Given the description of an element on the screen output the (x, y) to click on. 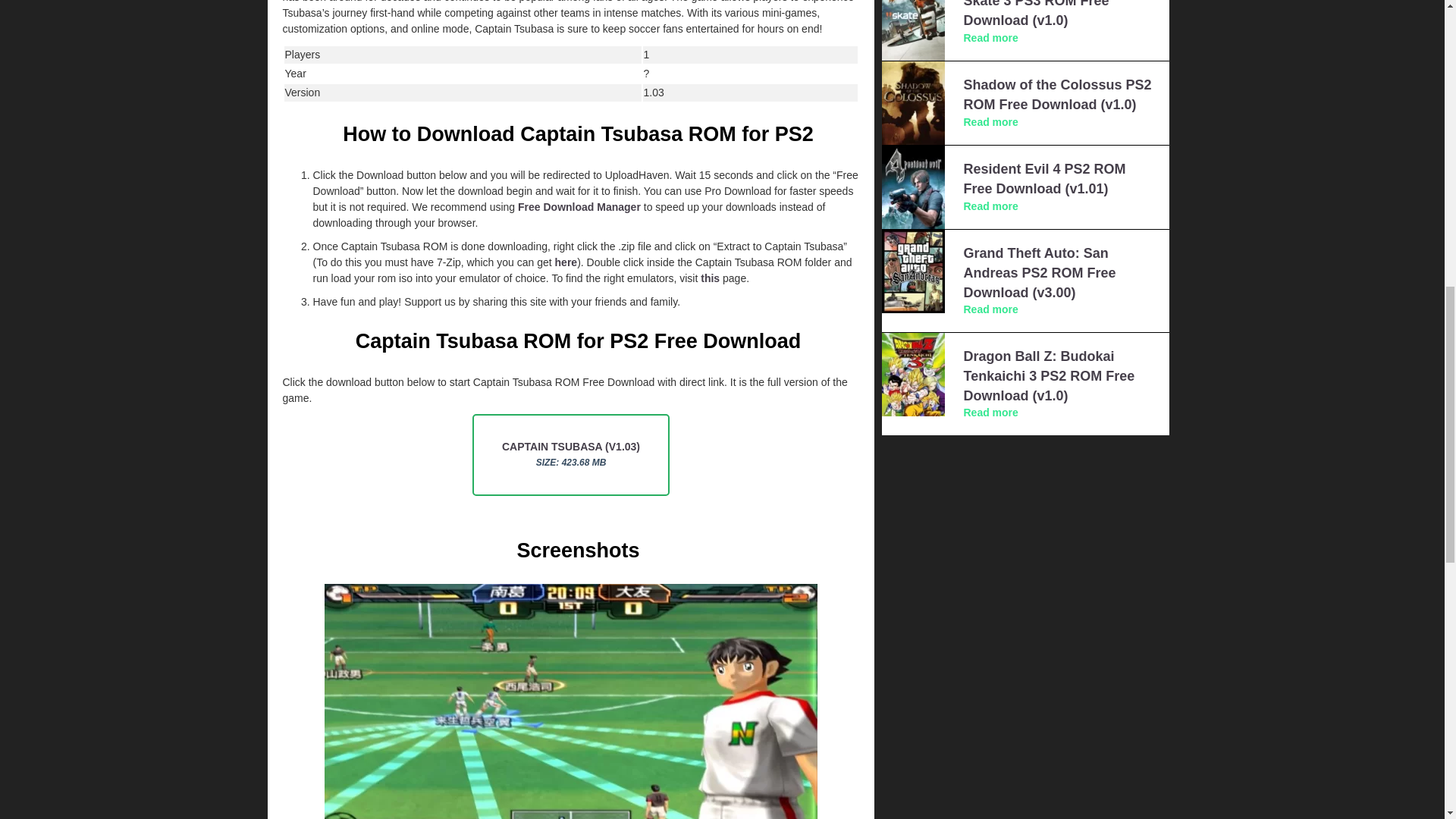
Read more (989, 37)
here (566, 262)
Read more (989, 205)
Free Download Manager (579, 206)
this (709, 277)
Read more (989, 309)
Read more (989, 121)
